Given the description of an element on the screen output the (x, y) to click on. 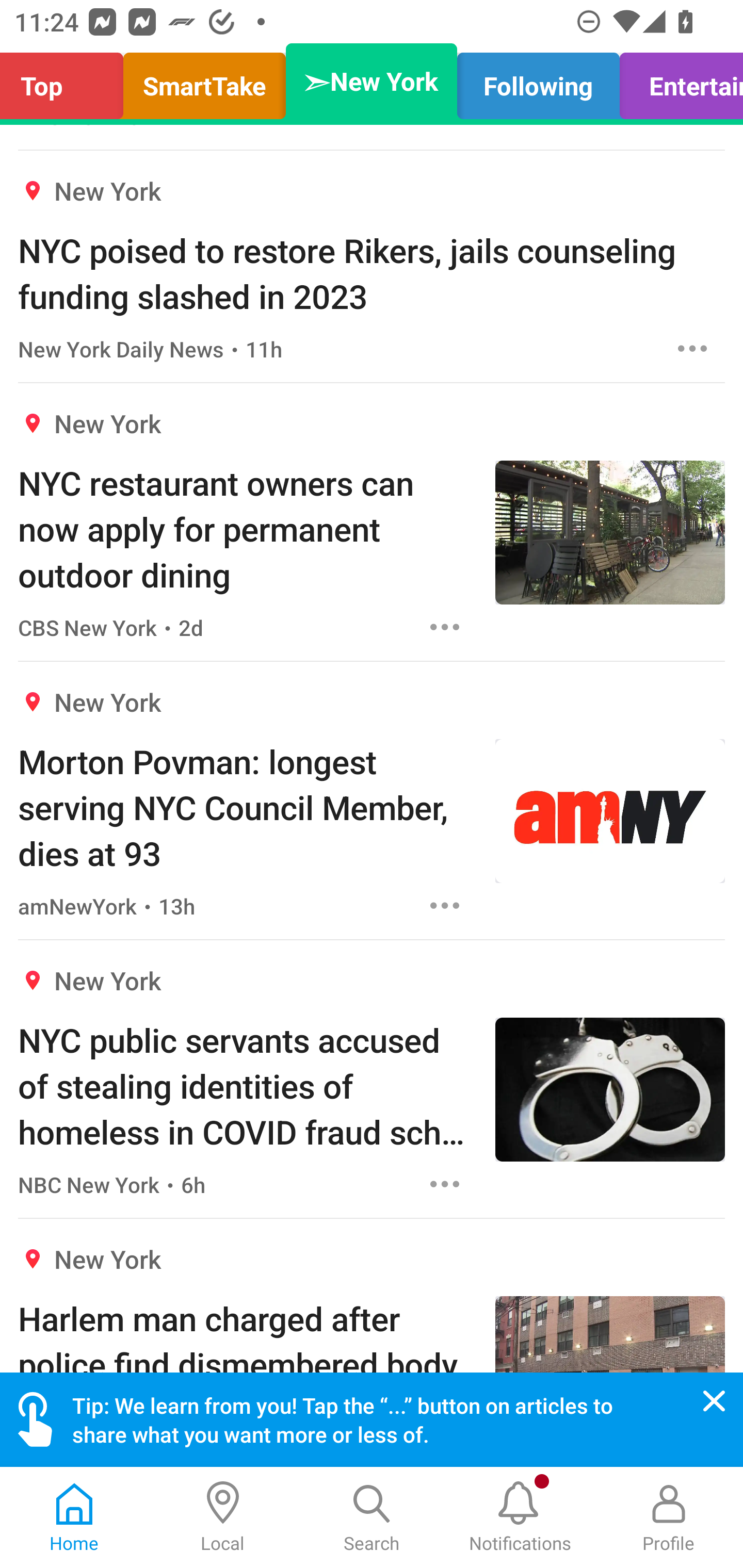
Top (67, 81)
SmartTake (204, 81)
➣New York (371, 81)
Following (538, 81)
Entertain (675, 81)
Options (692, 348)
Options (444, 627)
Options (444, 905)
Options (444, 1183)
Close (714, 1401)
Local (222, 1517)
Search (371, 1517)
Notifications, New notification Notifications (519, 1517)
Profile (668, 1517)
